Given the description of an element on the screen output the (x, y) to click on. 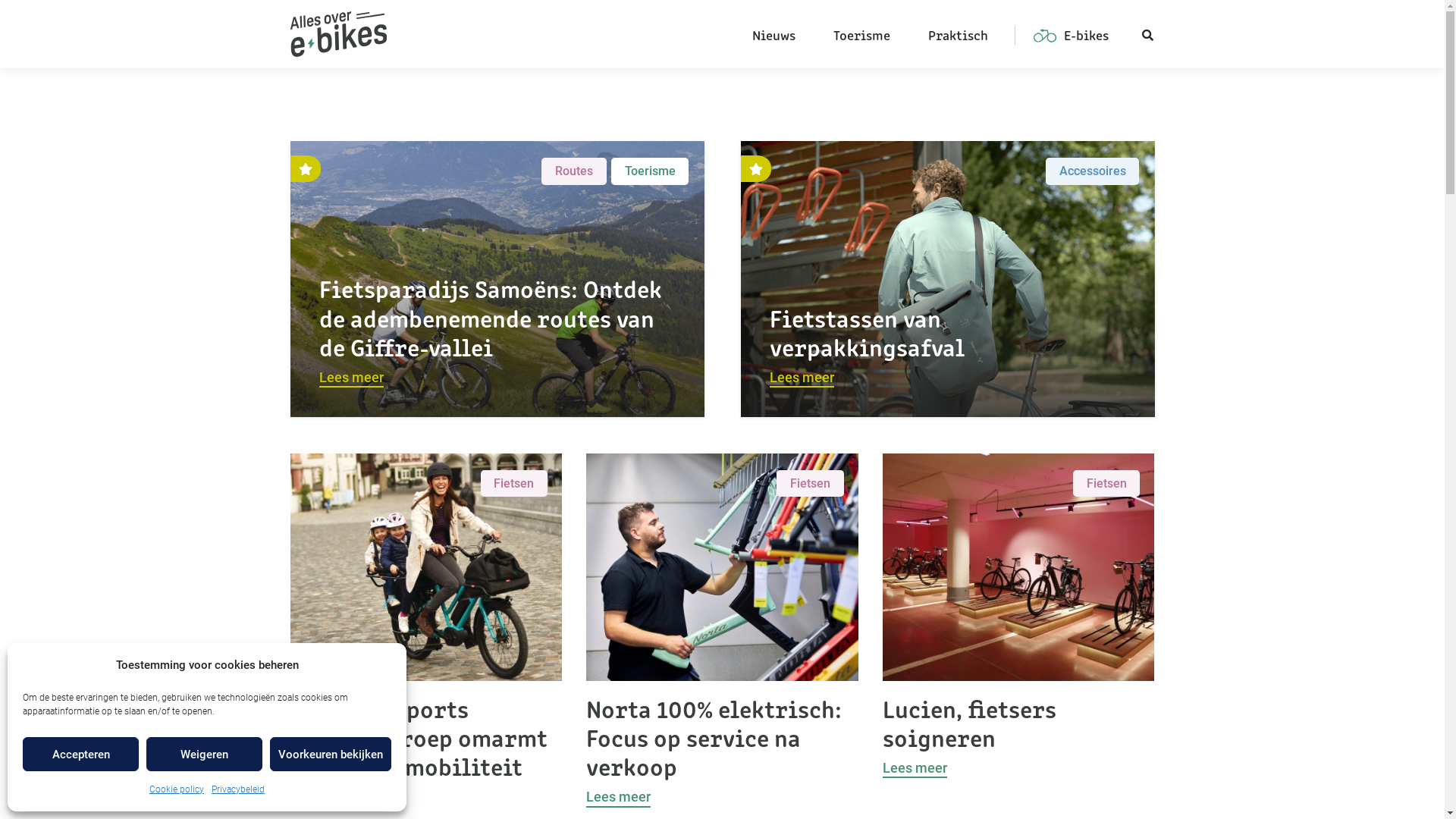
Lees meer Element type: text (801, 378)
E-bikes Element type: text (1067, 34)
Weigeren Element type: text (204, 754)
Lees meer Element type: text (618, 797)
Praktisch Element type: text (958, 34)
Norta 100% elektrisch: Focus op service na verkoop Element type: text (713, 736)
Toerisme Element type: text (861, 34)
Lees meer Element type: text (914, 768)
Fietstassen van verpakkingsafval Element type: text (866, 331)
Lees meer Element type: text (351, 378)
Voorkeuren bekijken Element type: text (330, 754)
Nieuws Element type: text (773, 34)
Privacybeleid Element type: text (237, 789)
Accepteren Element type: text (80, 754)
De SCOTT Sports Benelux-groep omarmt de nieuwe mobiliteit Element type: text (417, 736)
Lees meer Element type: text (321, 797)
Cookie policy Element type: text (176, 789)
Lucien, fietsers soigneren Element type: text (969, 721)
